Given the description of an element on the screen output the (x, y) to click on. 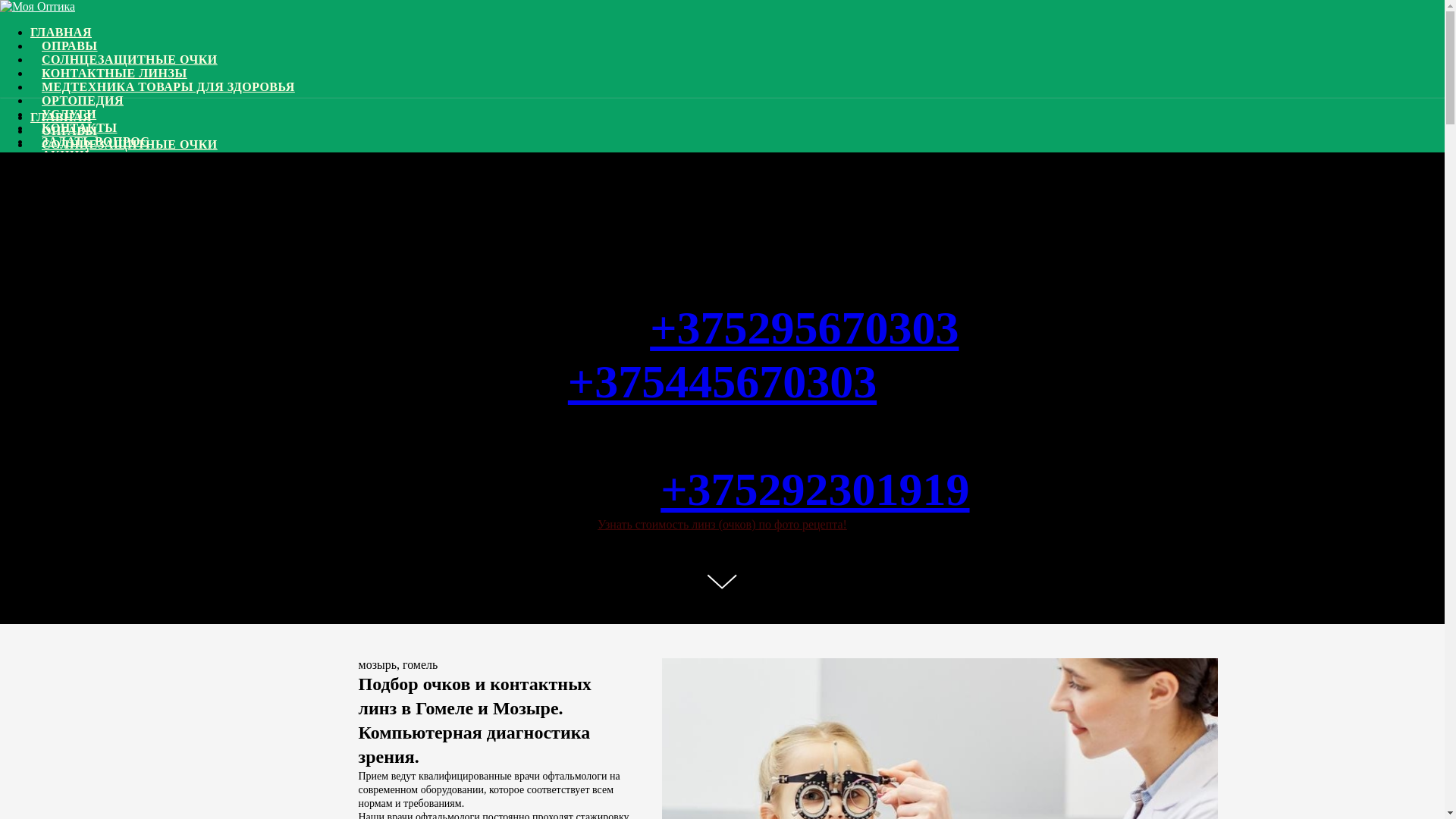
+375445670303 Element type: text (721, 408)
+375295670303 Element type: text (803, 327)
+375292301919 Element type: text (814, 488)
